Given the description of an element on the screen output the (x, y) to click on. 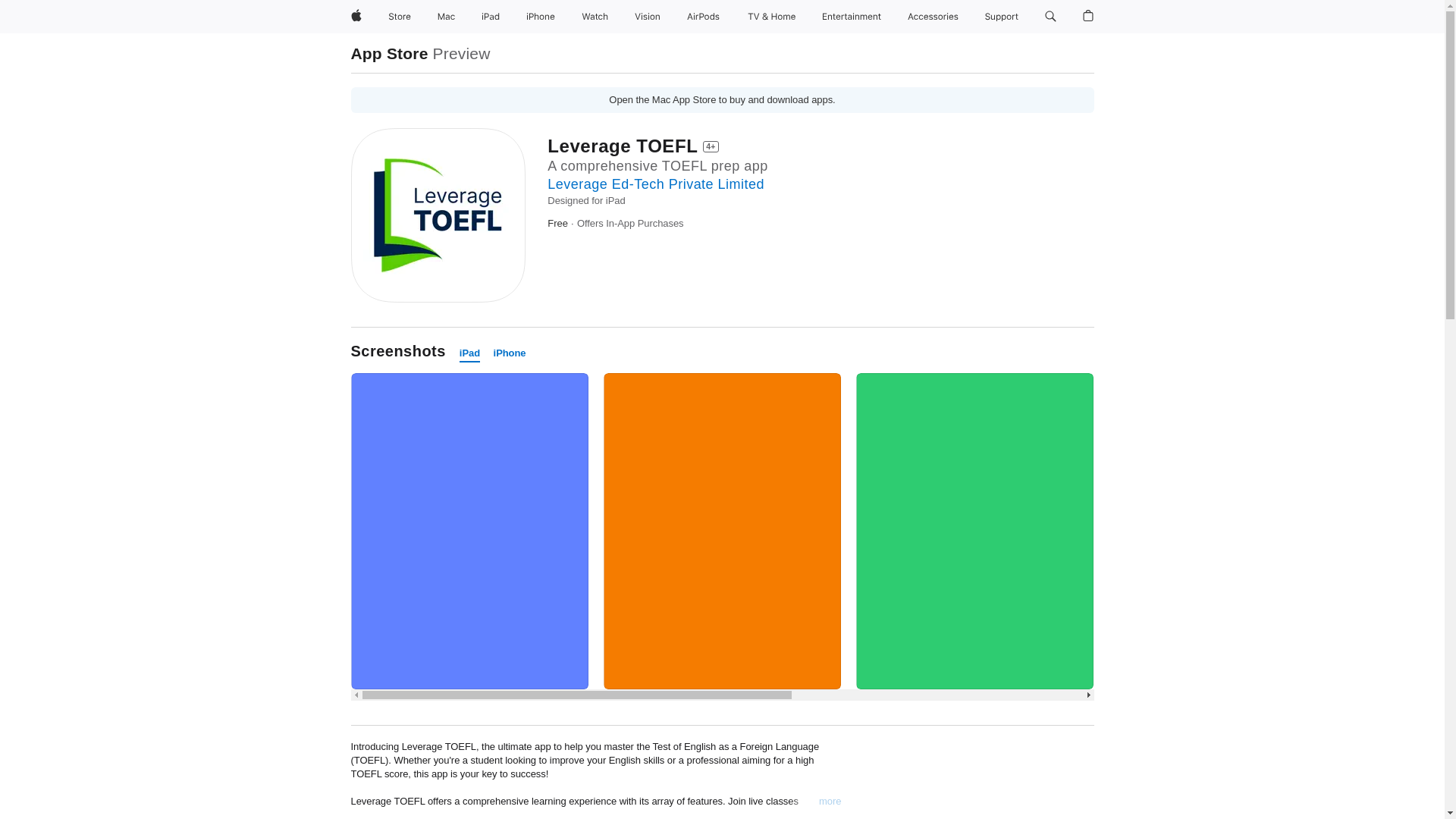
iPad (470, 353)
Accessories (932, 16)
iPhone (539, 16)
more (829, 801)
iPad (490, 16)
Support (1001, 16)
Vision (647, 16)
App Store (389, 53)
AirPods (703, 16)
Watch (594, 16)
